Given the description of an element on the screen output the (x, y) to click on. 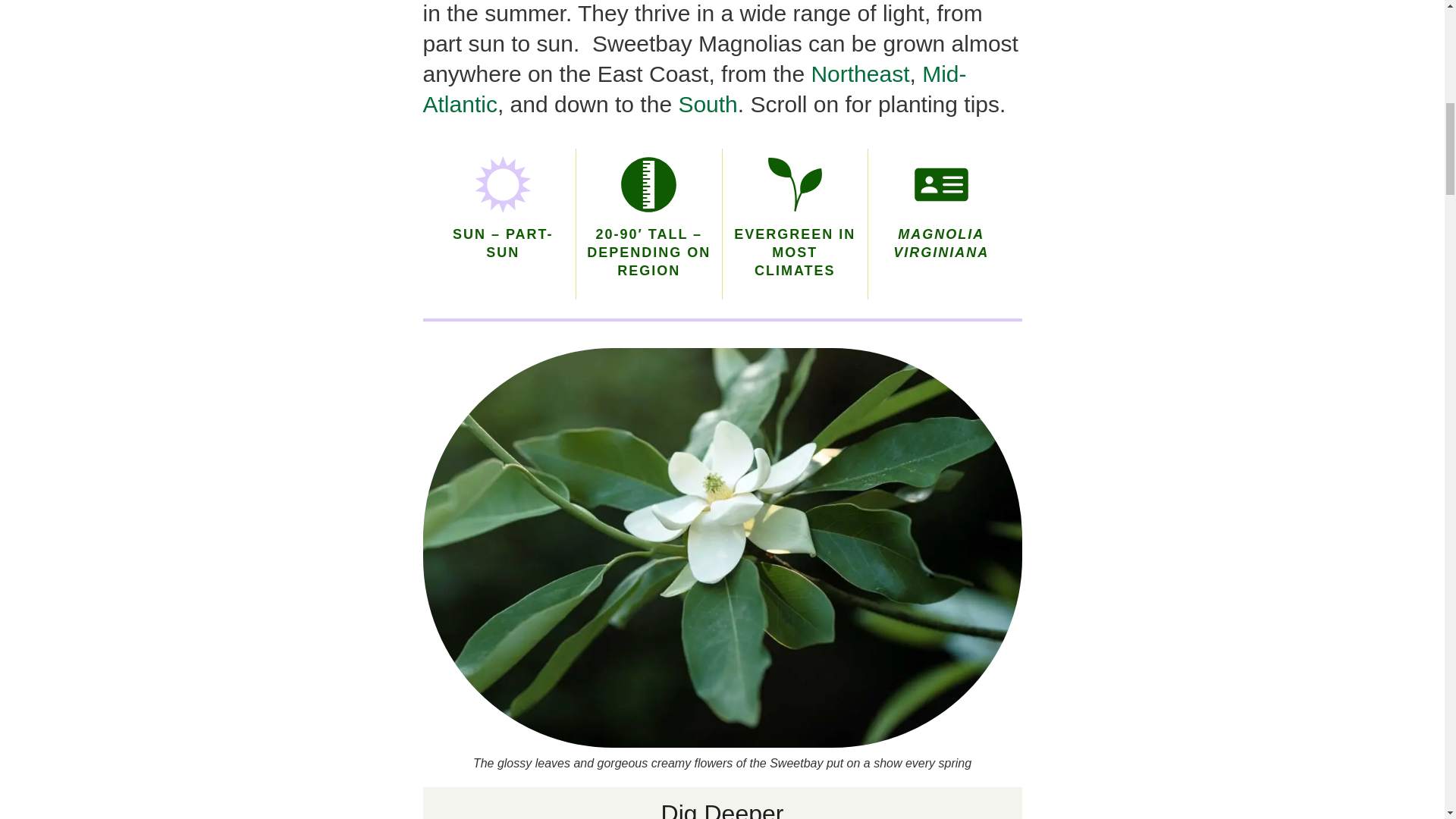
South (707, 104)
Northeast (859, 73)
Mid-Atlantic (694, 89)
